Given the description of an element on the screen output the (x, y) to click on. 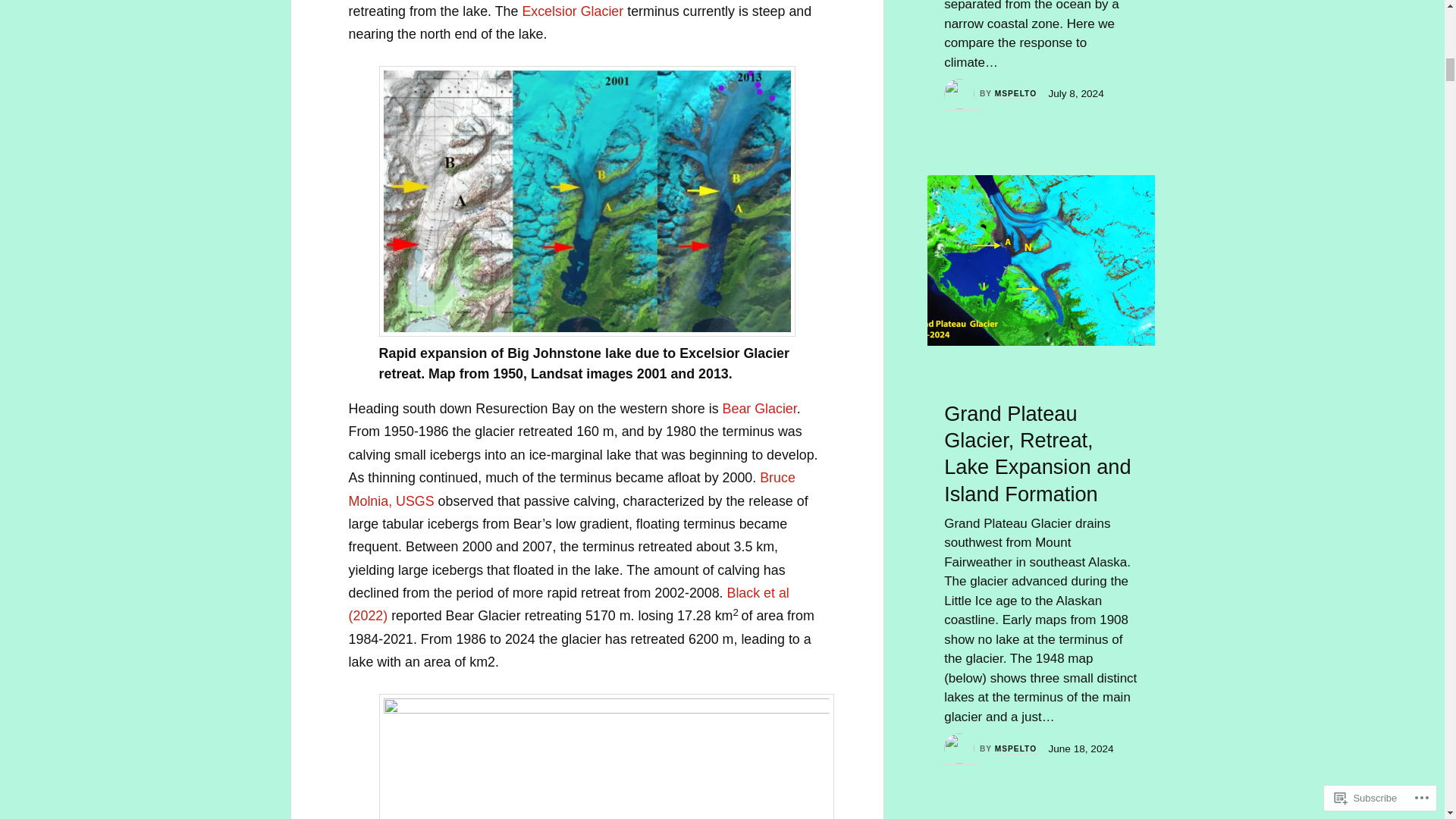
Excelsior Glacier (572, 11)
Bruce Molnia, USGS  (571, 488)
Bear Glacier (759, 408)
